Given the description of an element on the screen output the (x, y) to click on. 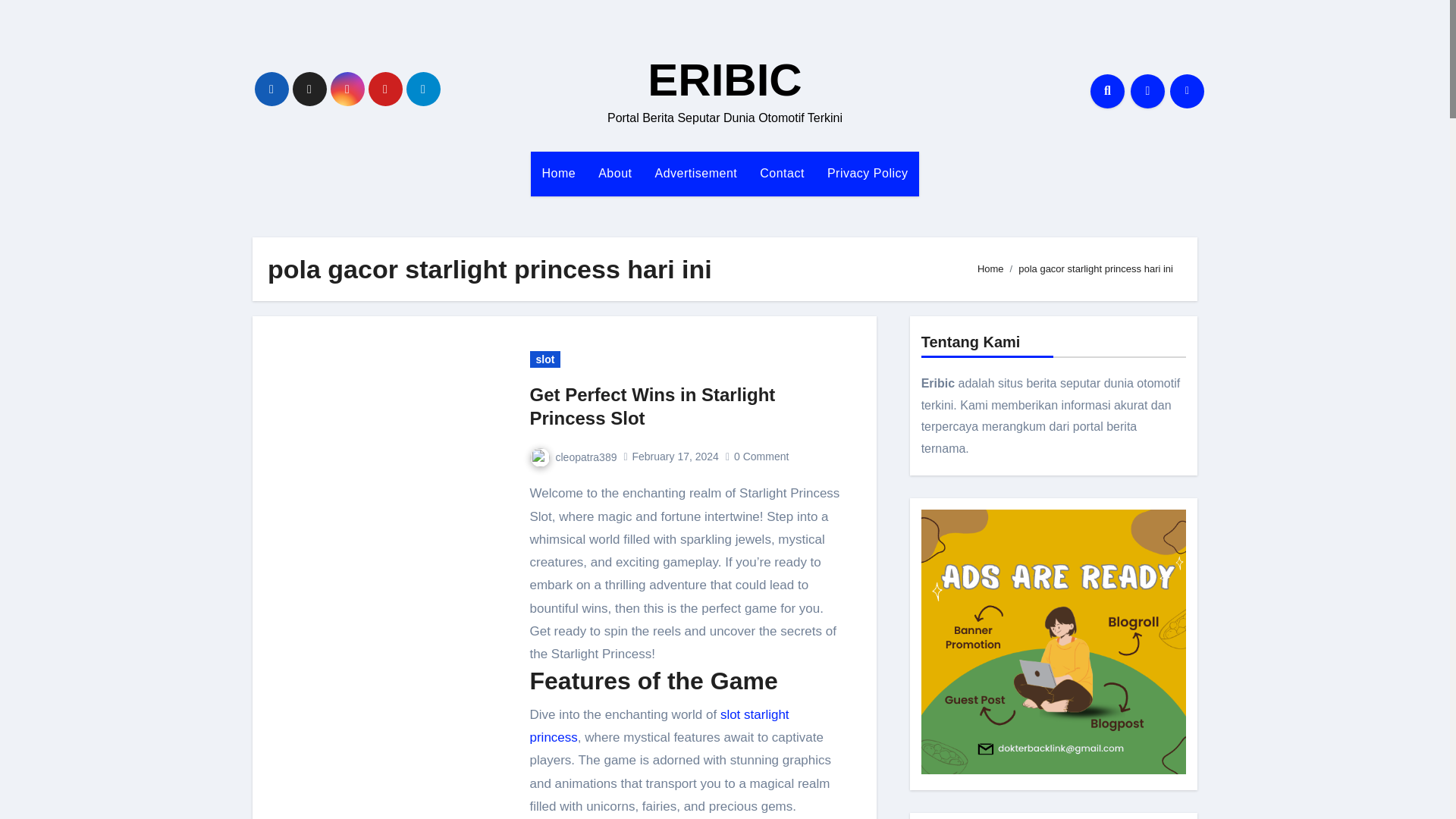
About (614, 173)
slot (544, 359)
Home (559, 173)
Privacy Policy (867, 173)
slot starlight princess (659, 725)
0Comment (762, 456)
Advertisement (695, 173)
Home (990, 268)
Get Perfect Wins in Starlight Princess Slot (651, 406)
ERIBIC (724, 79)
Home (559, 173)
Advertisement (695, 173)
Contact (781, 173)
Privacy Policy (867, 173)
Contact (781, 173)
